Given the description of an element on the screen output the (x, y) to click on. 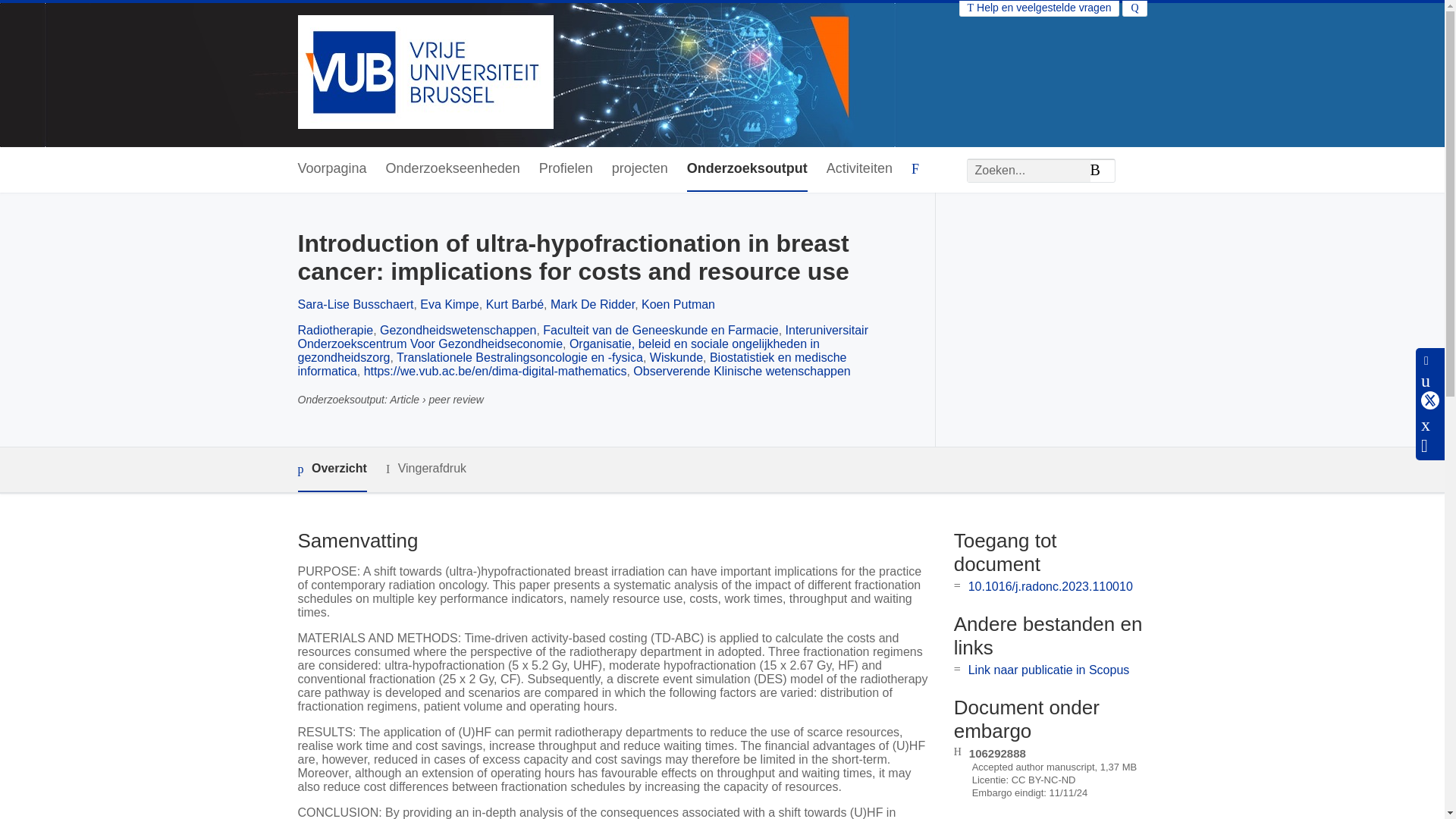
Radiotherapie (334, 329)
Help en veelgestelde vragen (1039, 7)
projecten (639, 169)
Biostatistiek en medische informatica (571, 364)
Interuniversitair Onderzoekscentrum Voor Gezondheidseconomie (582, 336)
Voorpagina (331, 169)
Vingerafdruk (425, 468)
Gezondheidswetenschappen (457, 329)
Sara-Lise Busschaert (355, 304)
Observerende Klinische wetenschappen (741, 370)
Wiskunde (676, 357)
Overzicht (331, 469)
Onderzoeksoutput (747, 169)
